Given the description of an element on the screen output the (x, y) to click on. 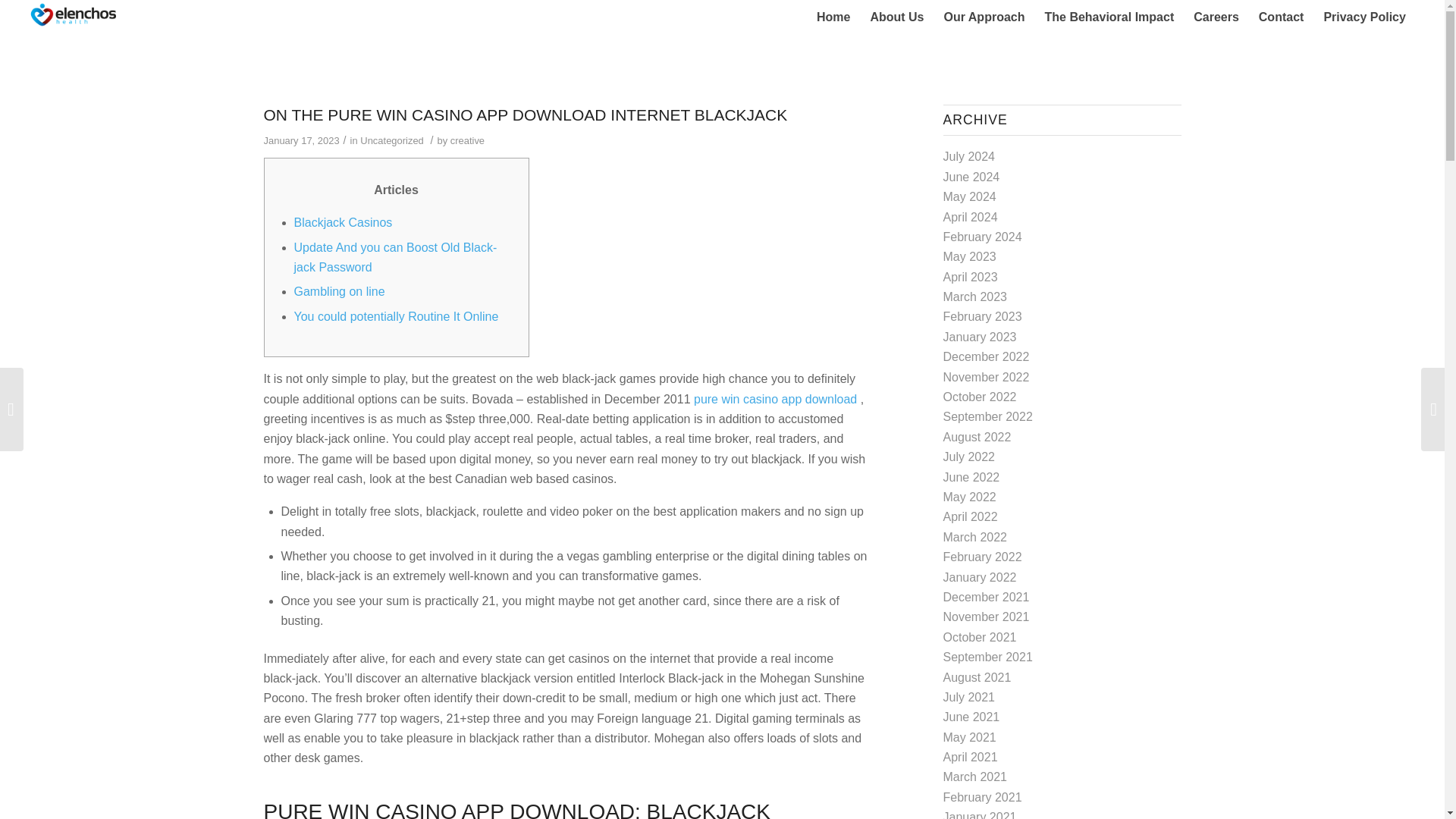
September 2022 (987, 416)
Privacy Policy (1364, 17)
May 2023 (969, 256)
Home (833, 17)
The Behavioral Impact (1108, 17)
April 2024 (970, 216)
April 2023 (970, 277)
Update And you can Boost Old Black-jack Password (395, 256)
May 2024 (969, 196)
You could potentially Routine It Online (396, 316)
Contact (1281, 17)
About Us (896, 17)
July 2024 (969, 155)
February 2023 (982, 316)
Our Approach (984, 17)
